Given the description of an element on the screen output the (x, y) to click on. 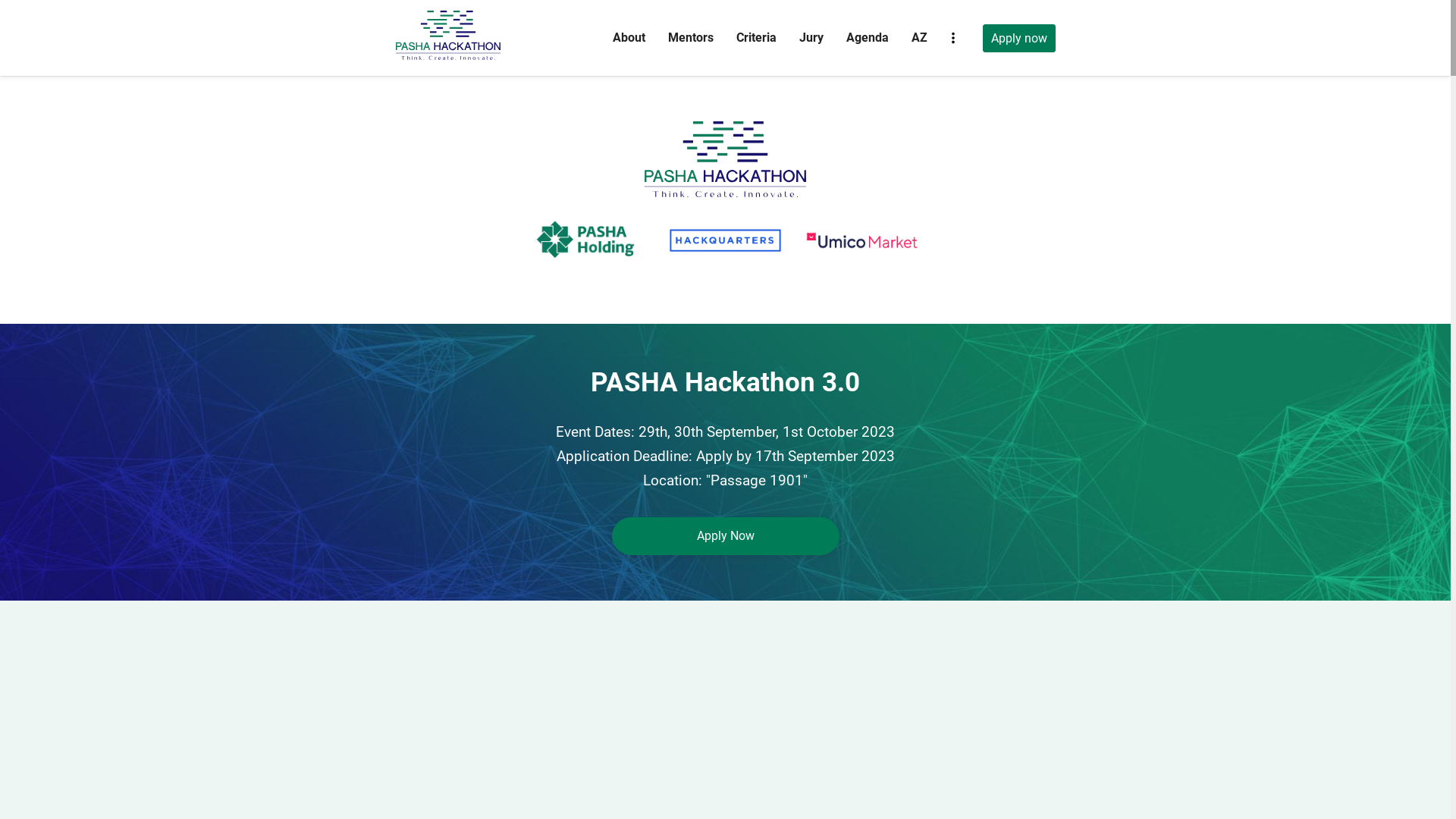
Mentors Element type: text (689, 37)
Agenda Element type: text (867, 37)
Criteria Element type: text (755, 37)
Apply Now Element type: text (724, 536)
AZ Element type: text (919, 37)
Apply now Element type: text (1018, 38)
Jury Element type: text (811, 37)
About Element type: text (628, 37)
